Given the description of an element on the screen output the (x, y) to click on. 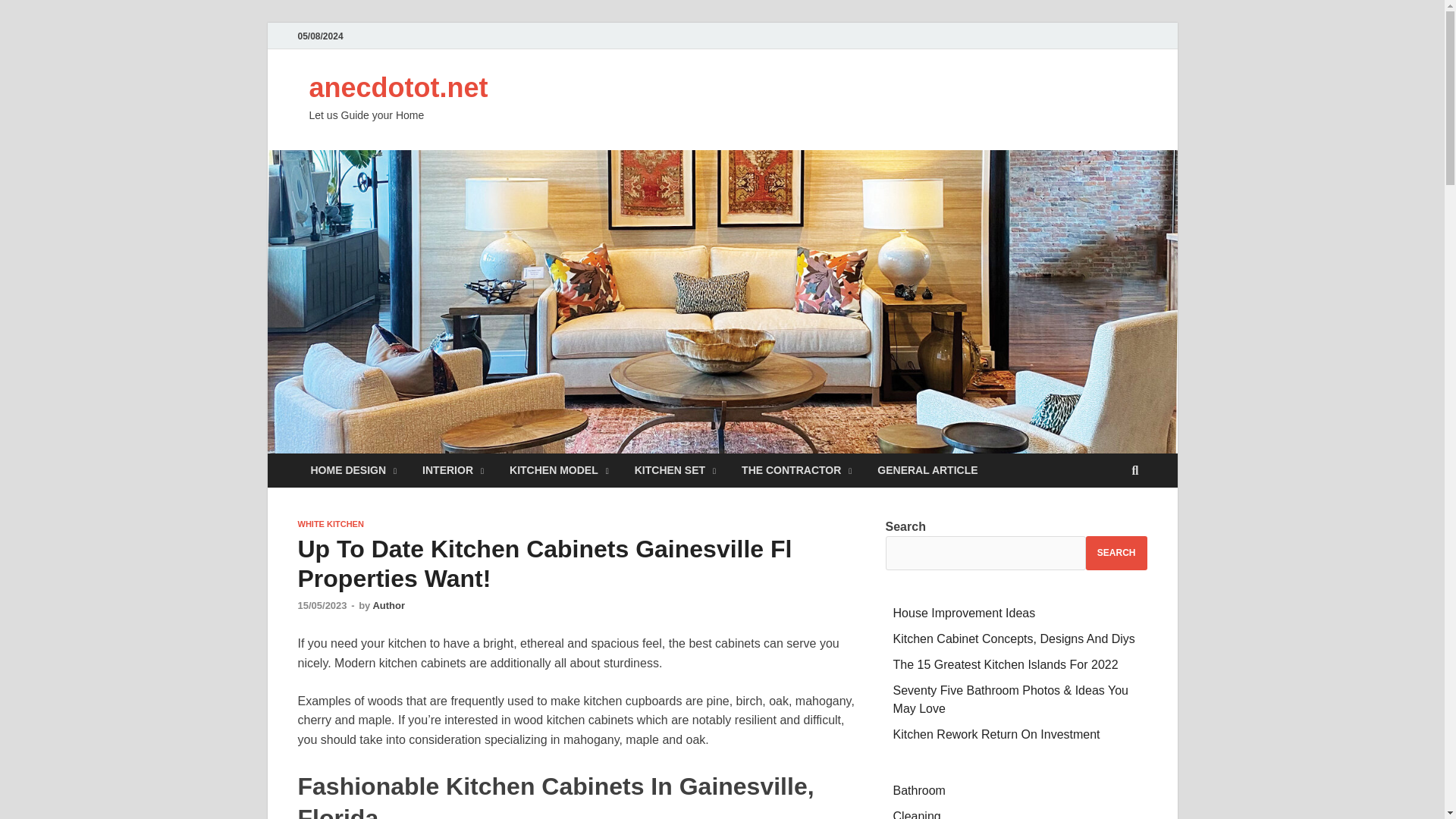
HOME DESIGN (353, 470)
THE CONTRACTOR (796, 470)
KITCHEN SET (675, 470)
KITCHEN MODEL (558, 470)
INTERIOR (452, 470)
GENERAL ARTICLE (927, 470)
anecdotot.net (397, 87)
